Given the description of an element on the screen output the (x, y) to click on. 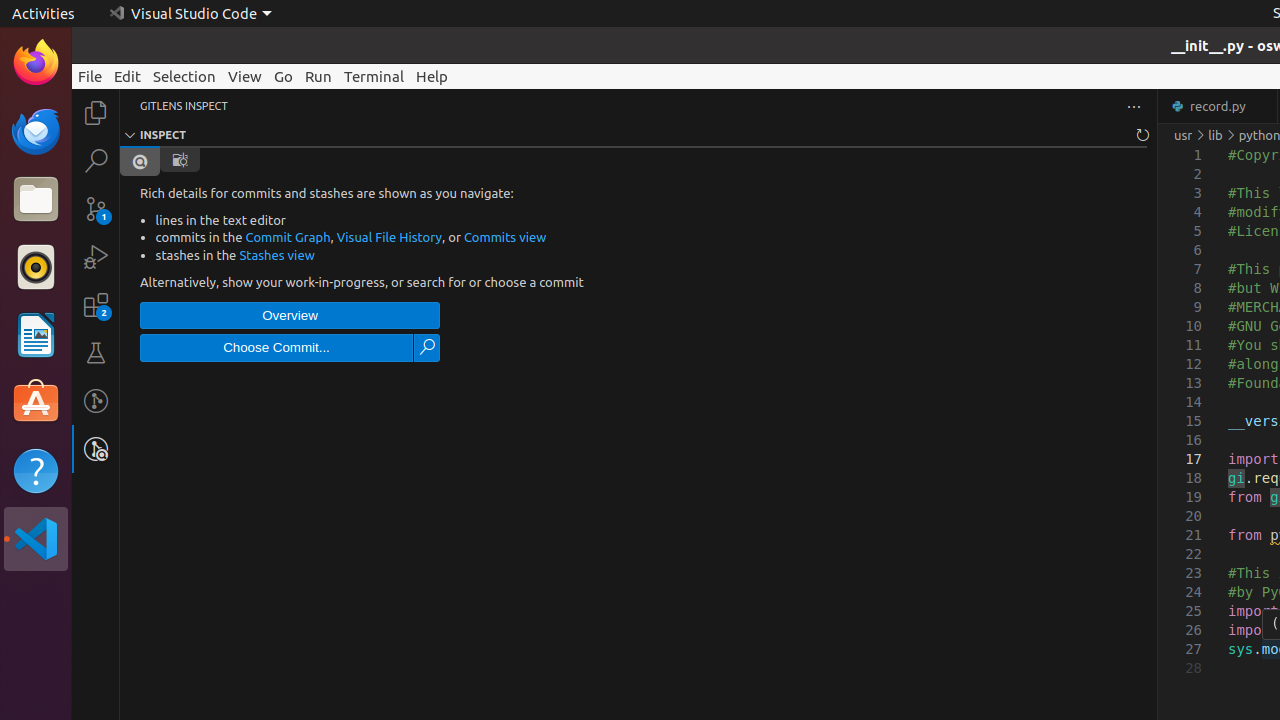
 Element type: push-button (140, 162)
File Element type: push-button (90, 76)
Terminal Element type: push-button (374, 76)
Source Control (Ctrl+Shift+G G) - 1 pending changes Source Control (Ctrl+Shift+G G) - 1 pending changes Element type: page-tab (96, 208)
